Given the description of an element on the screen output the (x, y) to click on. 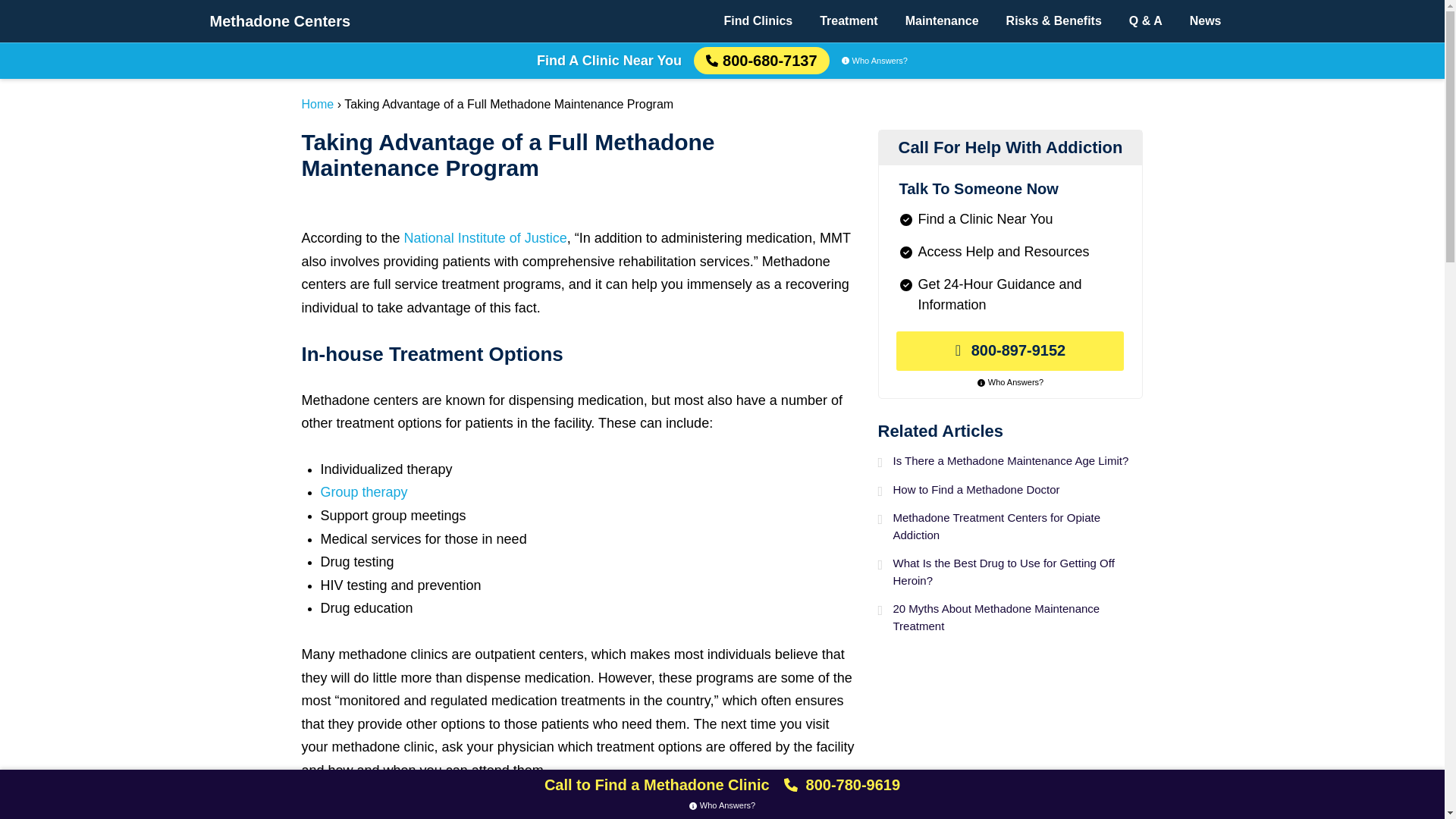
How to Find a Methadone Doctor (1017, 489)
Group therapy (363, 491)
Maintenance (941, 21)
Home (317, 103)
Methadone Centers (279, 21)
Is There a Methadone Maintenance Age Limit? (1017, 461)
Methadone Treatment Centers for Opiate Addiction (1017, 526)
800-897-9152 (1010, 351)
20 Myths About Methadone Maintenance Treatment (1017, 617)
Find A Clinic Near You (609, 60)
News (1205, 21)
What Is the Best Drug to Use for Getting Off Heroin? (1017, 571)
Find Clinics (758, 21)
800-680-7137 (761, 60)
Treatment (848, 21)
